Given the description of an element on the screen output the (x, y) to click on. 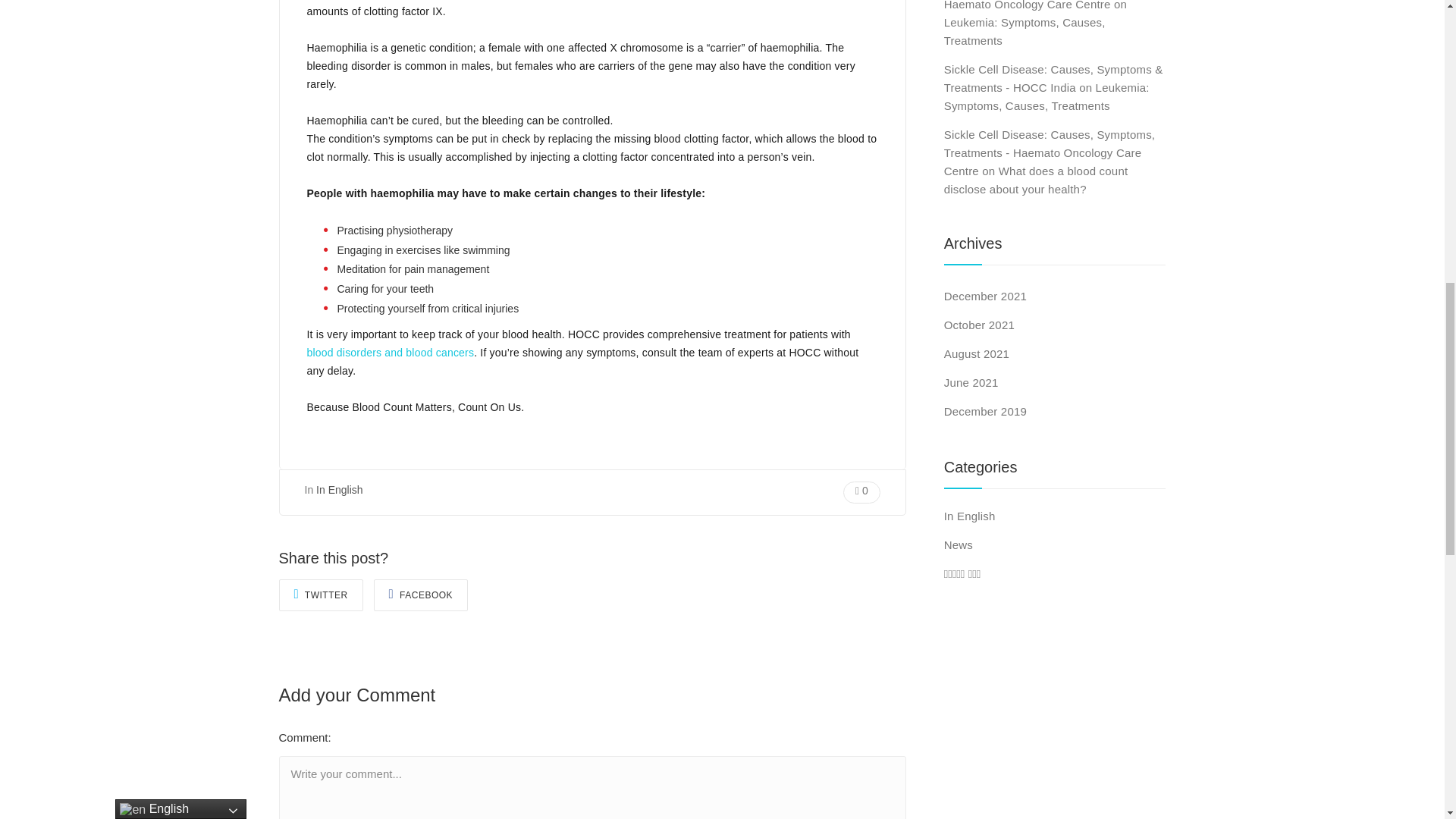
blood disorders and blood cancers (389, 352)
Share On Twitter (320, 594)
Share On Facebook (421, 594)
